Given the description of an element on the screen output the (x, y) to click on. 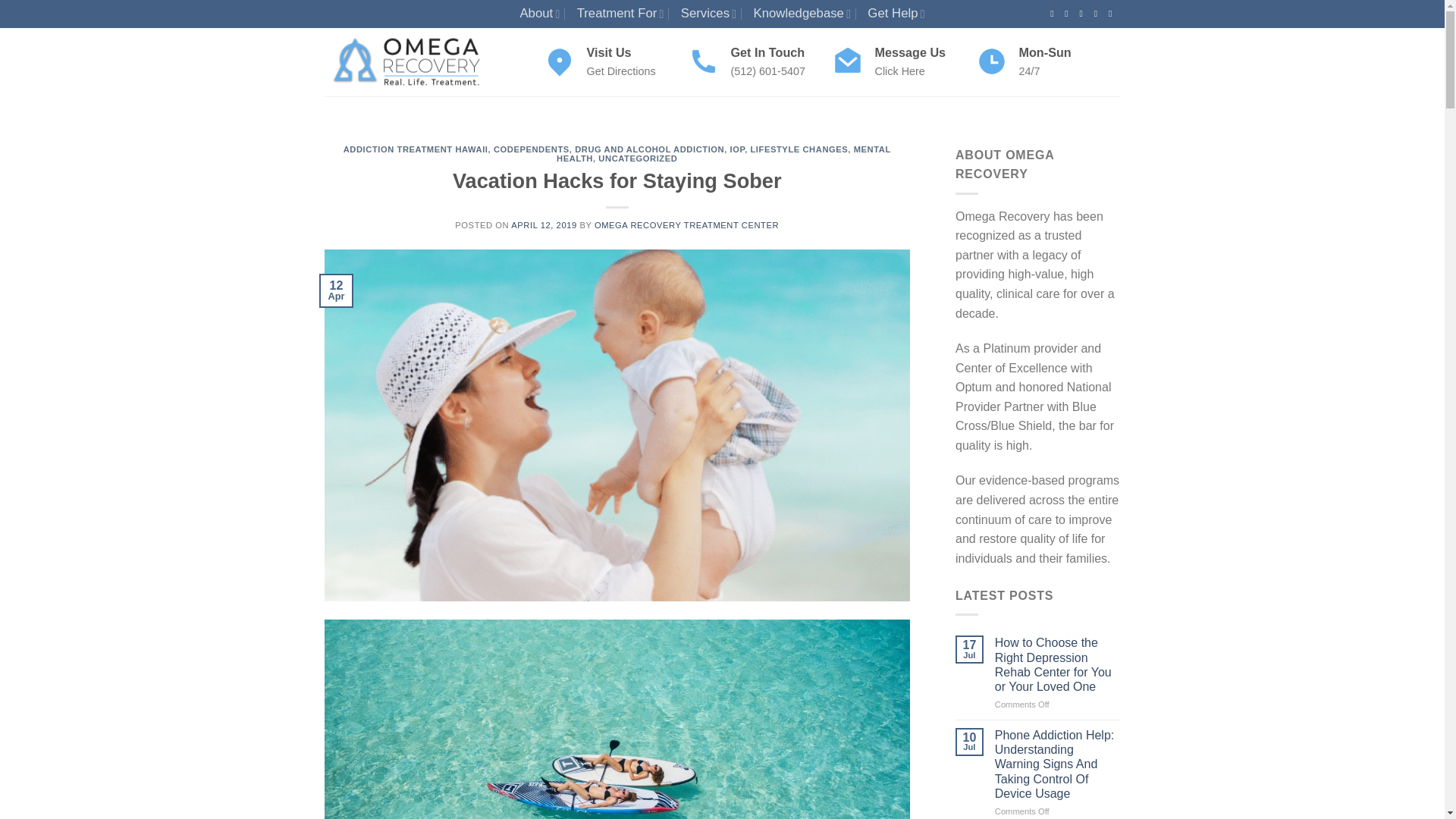
Follow on Instagram (1069, 13)
Services (708, 13)
Follow on Facebook (1054, 13)
Follow on Twitter (1084, 13)
Follow on YouTube (1113, 13)
Knowledgebase (802, 13)
Omega Recovery - Mental Health and Substance Abuse Treatment (422, 61)
About (539, 13)
Treatment For (619, 13)
Send us an email (1098, 13)
